Given the description of an element on the screen output the (x, y) to click on. 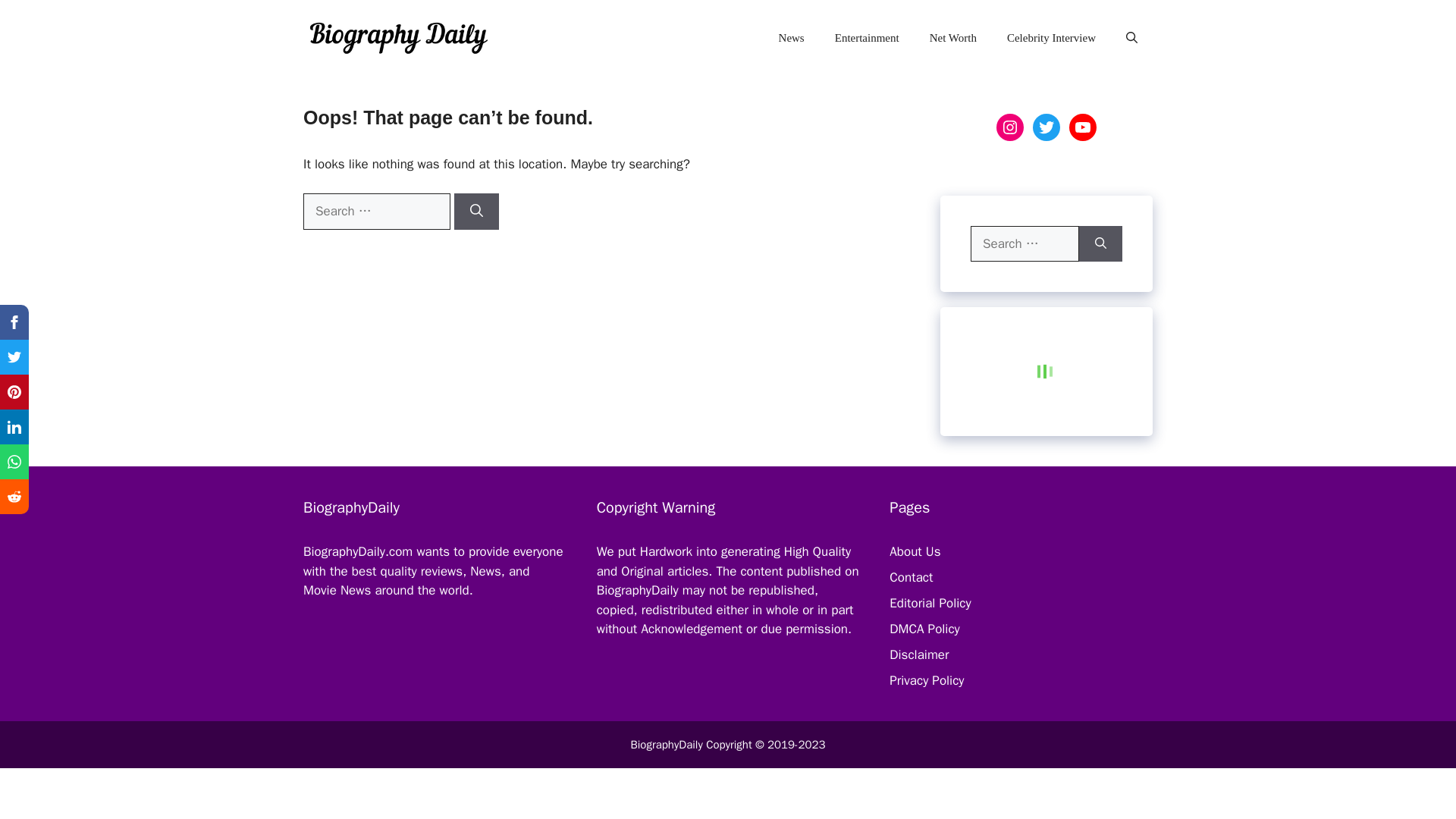
Twitter (1045, 126)
News (790, 37)
Search for: (375, 211)
Contact (911, 577)
Privacy Policy (926, 680)
Celebrity Interview (1050, 37)
Search for: (1024, 244)
Disclaimer (919, 654)
Net Worth (952, 37)
Entertainment (866, 37)
